Given the description of an element on the screen output the (x, y) to click on. 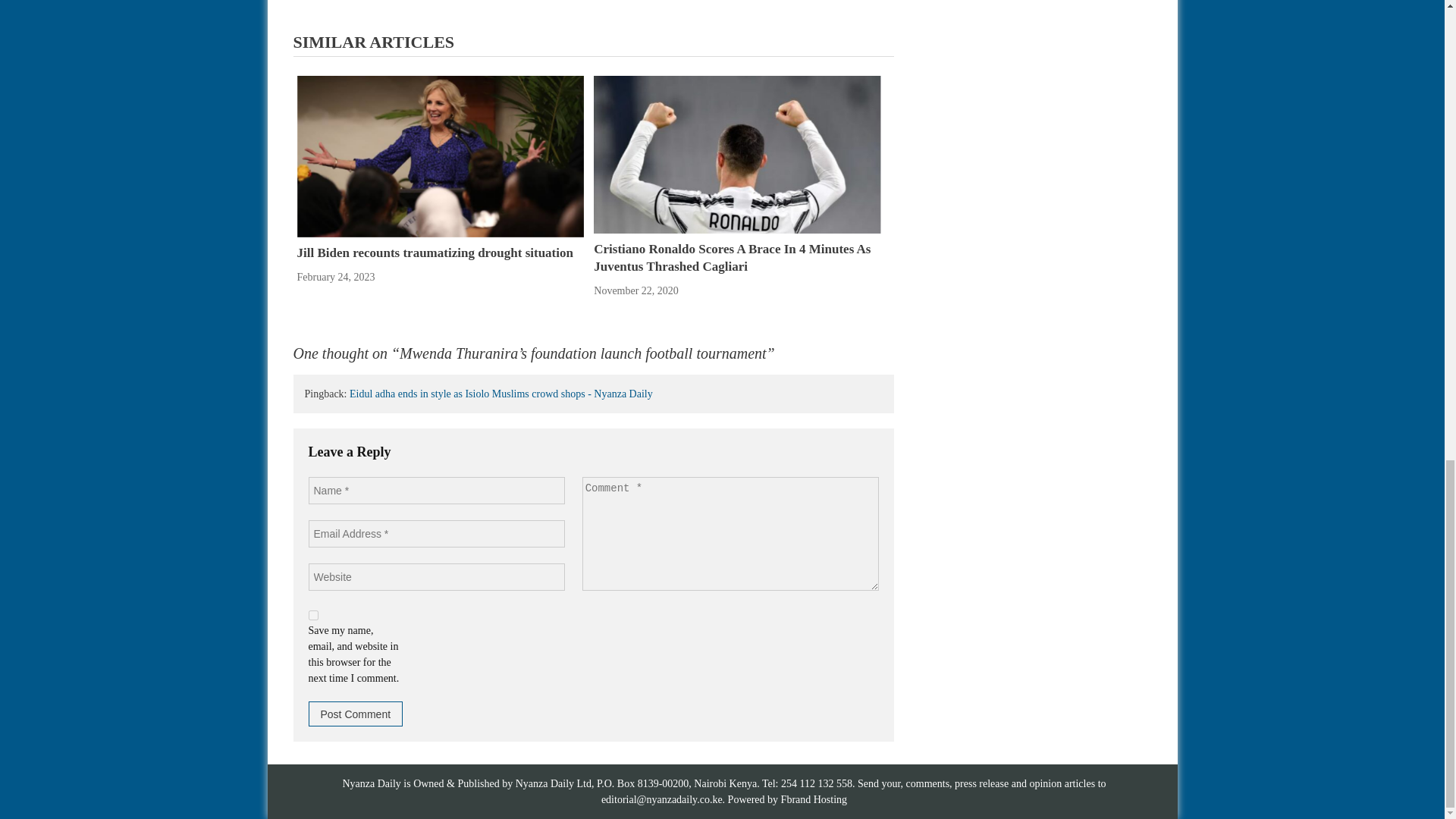
yes (312, 614)
Jill Biden recounts traumatizing drought situation (440, 155)
Jill Biden recounts traumatizing drought situation (435, 252)
Sakaja shows up late for gubernatorial debate (402, 4)
Jill Biden recounts traumatizing drought situation (440, 156)
Post Comment (355, 713)
Eid-ul-adha ends in style as Isiolo Muslims crowd shops (756, 4)
